Given the description of an element on the screen output the (x, y) to click on. 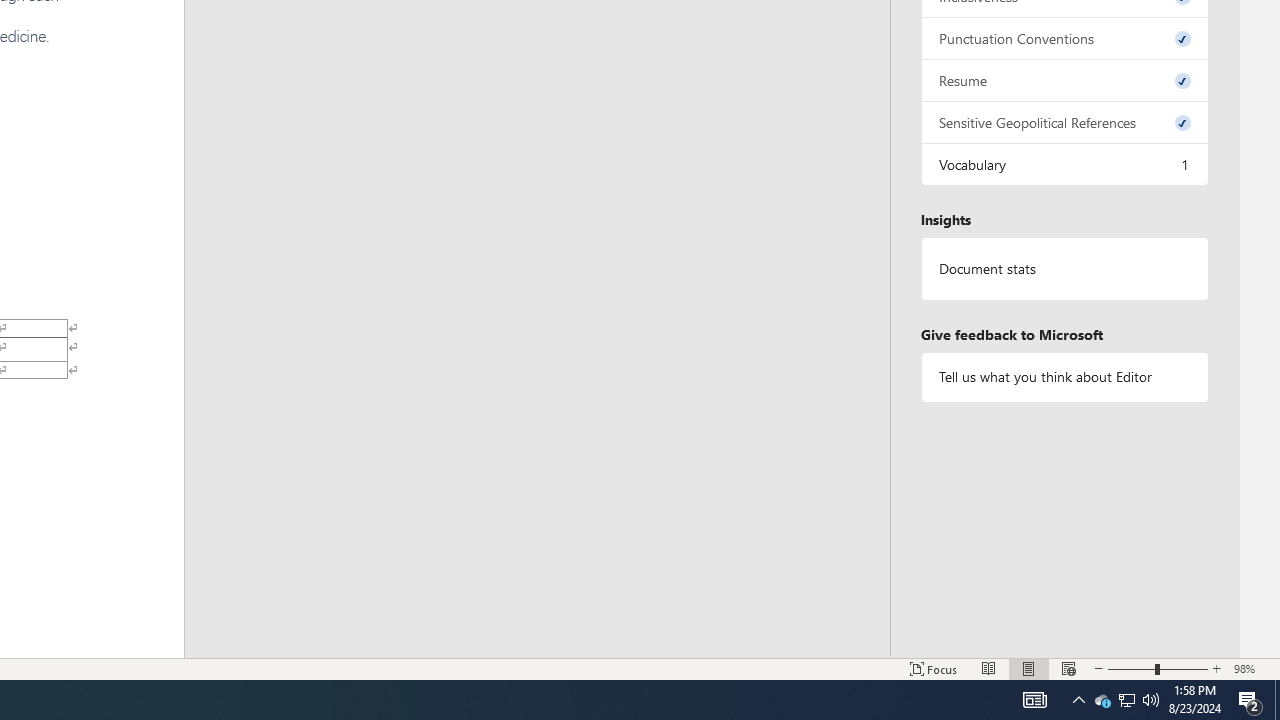
Vocabulary, 1 issue. Press space or enter to review items. (1064, 164)
Document statistics (1064, 269)
Zoom In (1217, 668)
Tell us what you think about Editor (1064, 376)
Web Layout (1069, 668)
Focus  (934, 668)
Zoom (1158, 668)
Print Layout (1028, 668)
Zoom Out (1131, 668)
Read Mode (988, 668)
Resume, 0 issues. Press space or enter to review items. (1064, 79)
